Given the description of an element on the screen output the (x, y) to click on. 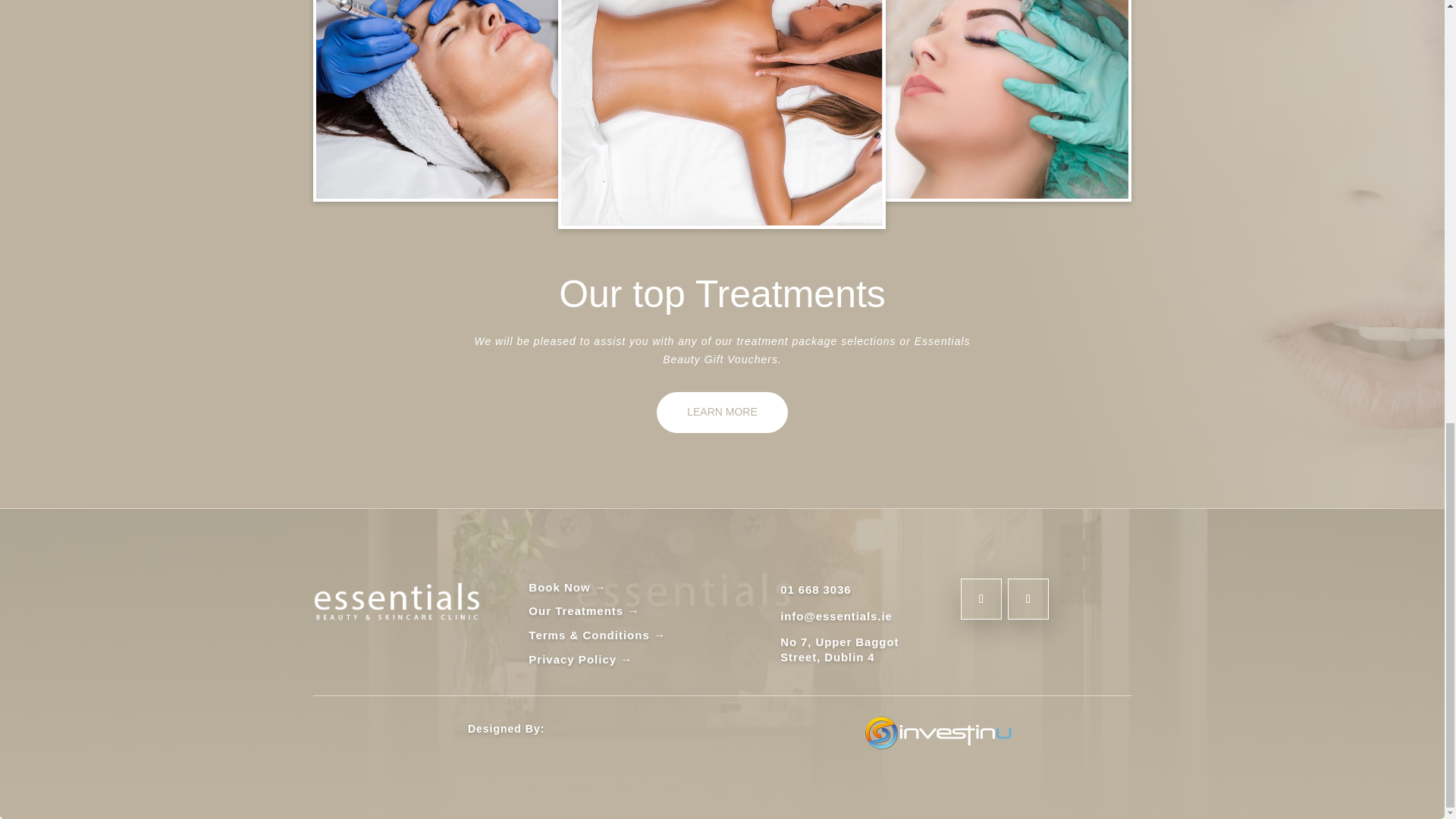
essentials-logo (398, 599)
investinu-logo-for-website (937, 732)
Follow on Facebook (980, 598)
Follow on Instagram (1027, 598)
